Given the description of an element on the screen output the (x, y) to click on. 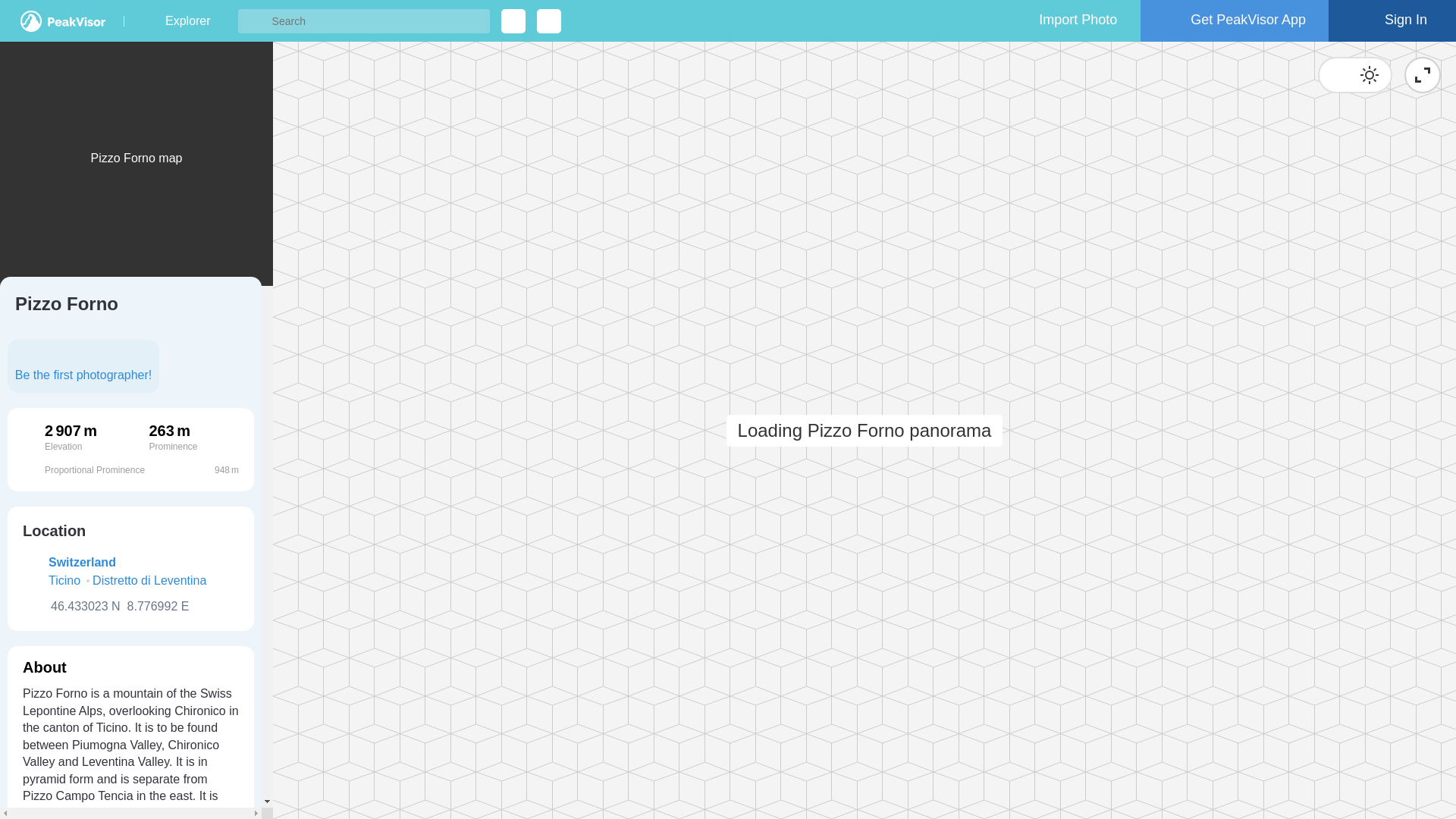
Explorer (186, 20)
Switzerland (82, 562)
Ticino (64, 580)
Distretto di Leventina (149, 580)
Import Photo (1064, 20)
PeakVisor (62, 20)
